Given the description of an element on the screen output the (x, y) to click on. 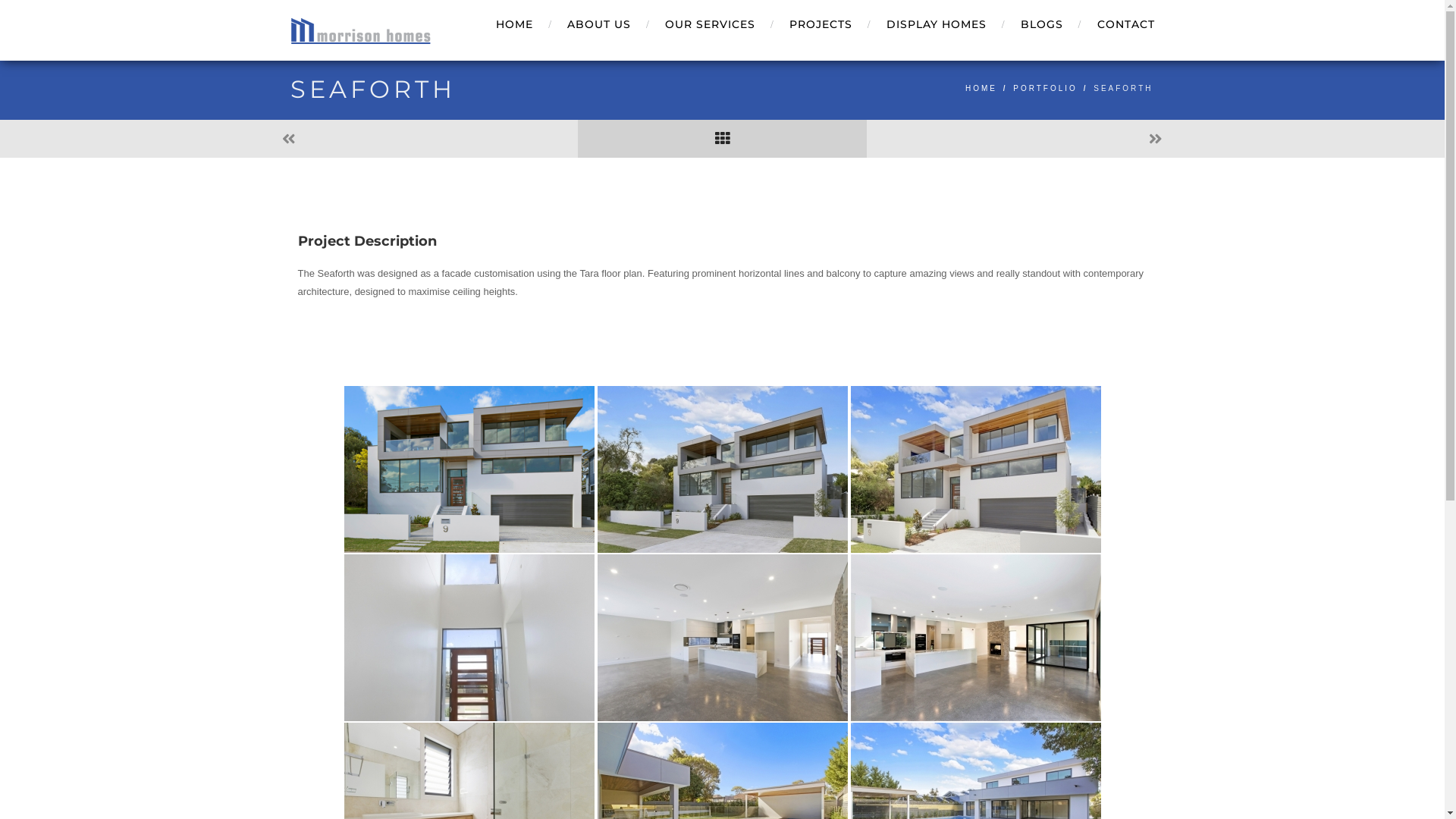
ABOUT US Element type: text (600, 22)
Seaforth Element type: hover (722, 468)
Seaforth Element type: hover (975, 637)
BLOGS Element type: text (1043, 22)
Seaforth Element type: hover (469, 468)
OUR SERVICES Element type: text (711, 22)
HOME Element type: text (981, 88)
Seaforth Element type: hover (469, 637)
PROJECTS Element type: text (822, 22)
Seaforth Element type: hover (722, 637)
HOME Element type: text (516, 22)
Seaforth Element type: hover (975, 468)
PORTFOLIO Element type: text (1045, 88)
CONTACT Element type: text (1117, 22)
DISPLAY HOMES Element type: text (938, 22)
